Given the description of an element on the screen output the (x, y) to click on. 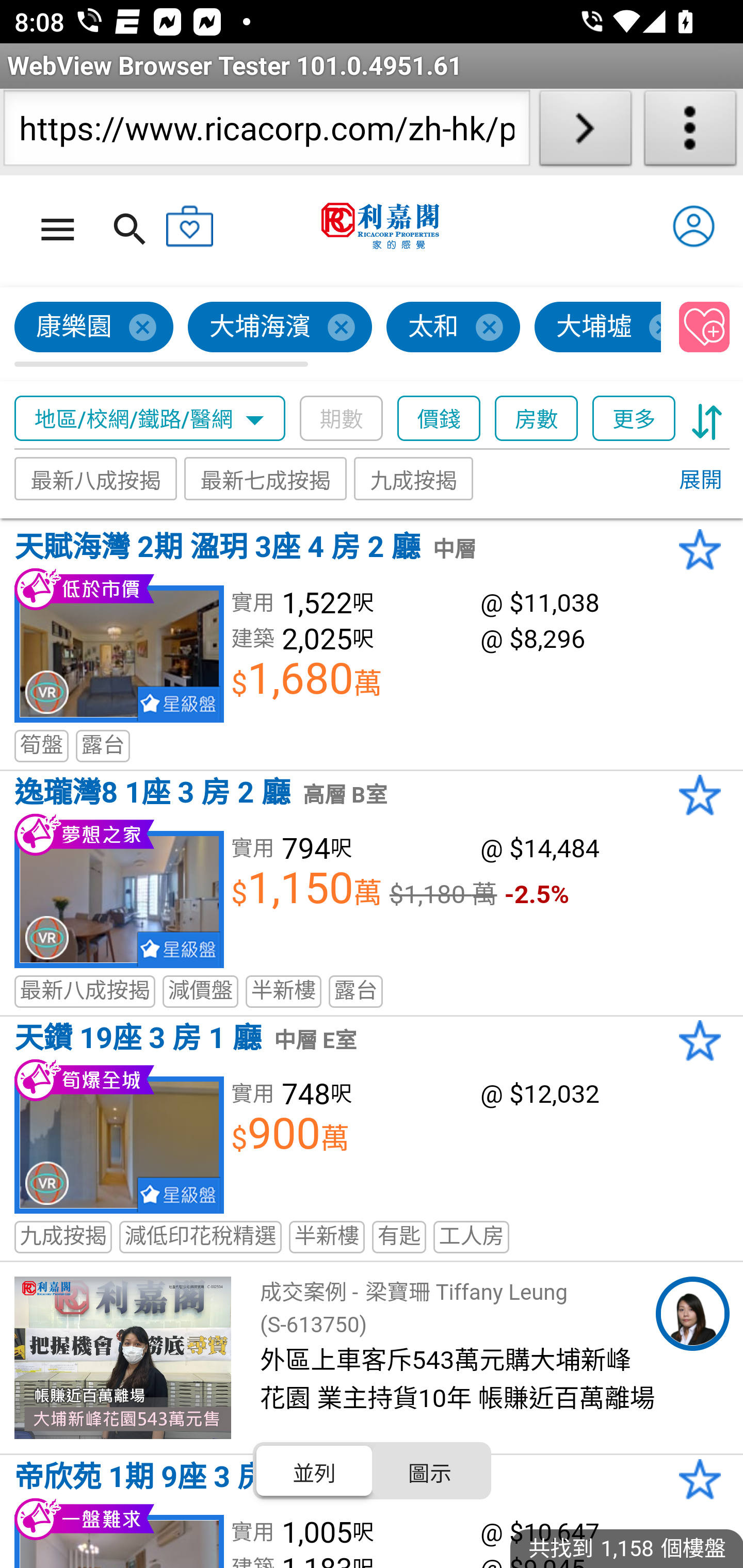
Load URL (585, 132)
About WebView (690, 132)
康樂園 大埔海濱 太和 大埔墟 大埔半山 (338, 334)
大埔海濱 (280, 327)
太和 (453, 327)
大埔墟 (598, 327)
save (705, 327)
地區/校網/鐵路/醫網 (150, 418)
期數 (341, 418)
價錢 (439, 418)
房數 (536, 418)
更多 (634, 418)
sort (706, 418)
最新八成按揭 (96, 478)
最新七成按揭 (266, 478)
九成按揭 (413, 478)
展開 (699, 481)
Tiffany Leung (692, 1313)
並列 (314, 1470)
圖示 (429, 1470)
